Given the description of an element on the screen output the (x, y) to click on. 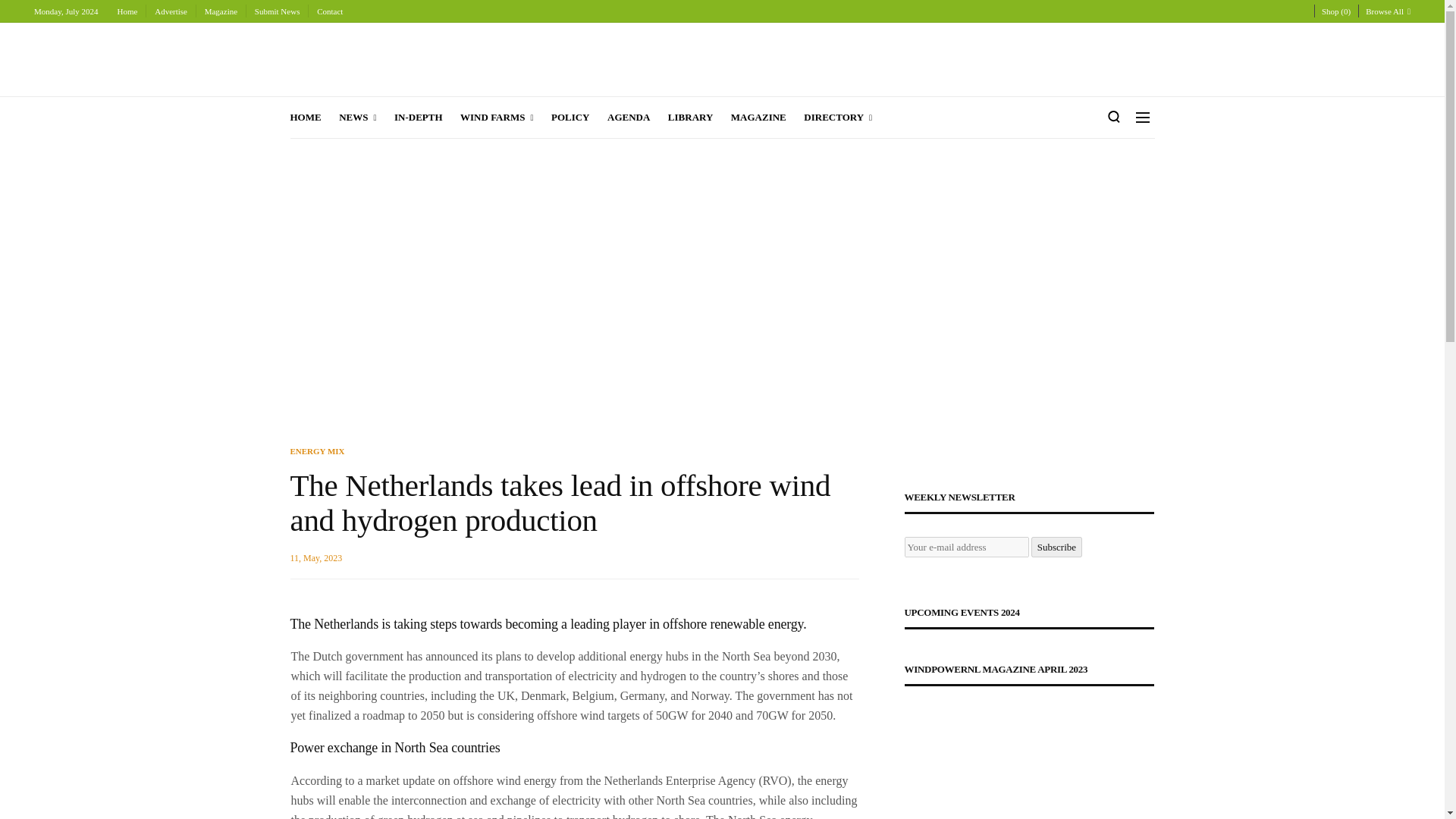
Subscribe (1055, 547)
Submit News (276, 11)
WIND FARMS (496, 117)
IN-DEPTH (418, 117)
Magazine (221, 11)
HOME (309, 117)
NEWS (357, 117)
Contact (329, 11)
Advertise (170, 11)
Home (127, 11)
Browse All (1387, 10)
View yovur shopping cart (1336, 11)
